Given the description of an element on the screen output the (x, y) to click on. 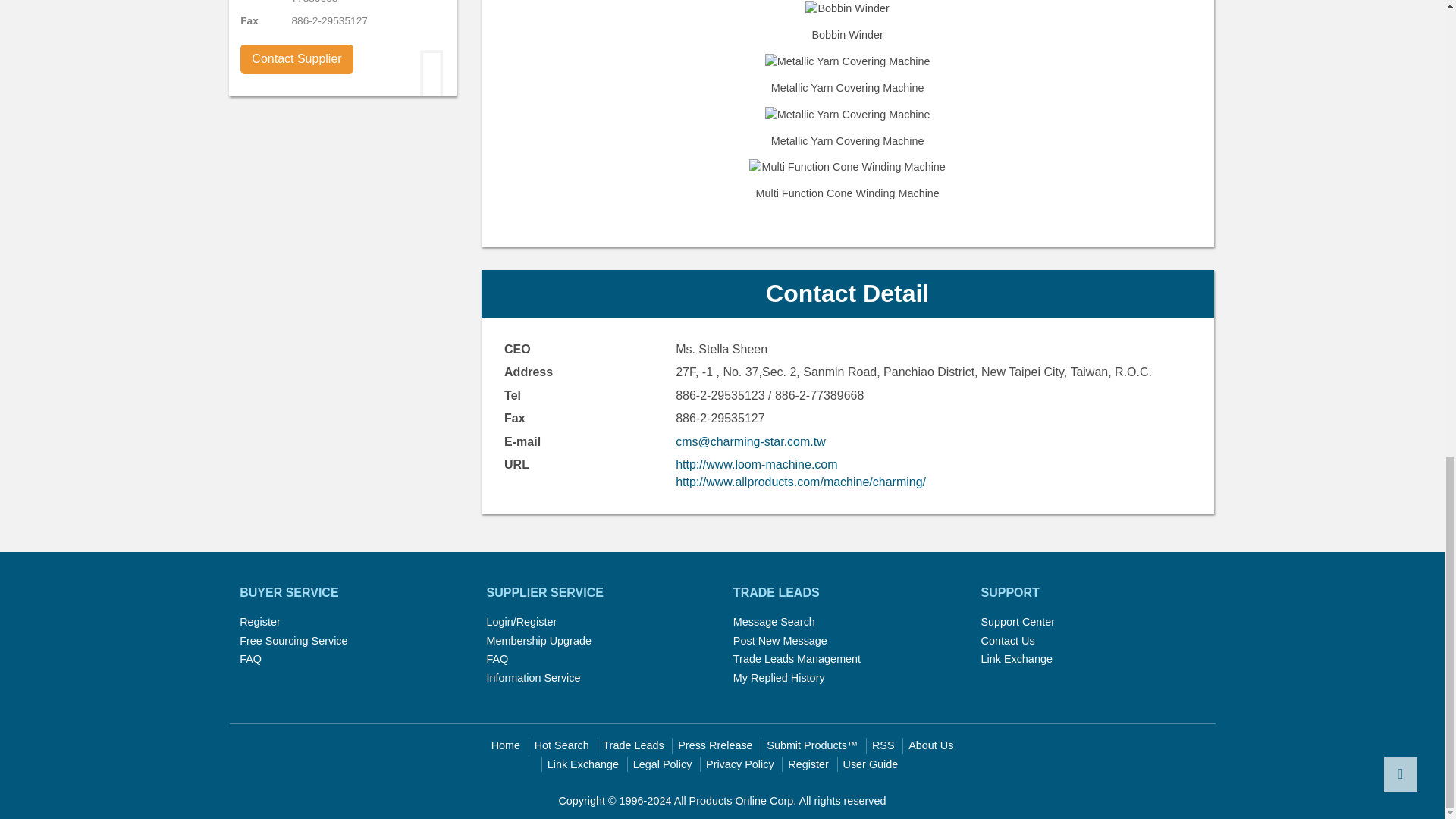
Bobbin Winder (847, 8)
Multi Function Cone Winding Machine (847, 166)
Metallic Yarn Covering Machine (847, 114)
Metallic Yarn Covering Machine (847, 75)
Contact Supplier (296, 59)
Bobbin Winder (847, 22)
Metallic Yarn Covering Machine (847, 128)
Multi Function Cone Winding Machine (847, 180)
Metallic Yarn Covering Machine (847, 61)
